Given the description of an element on the screen output the (x, y) to click on. 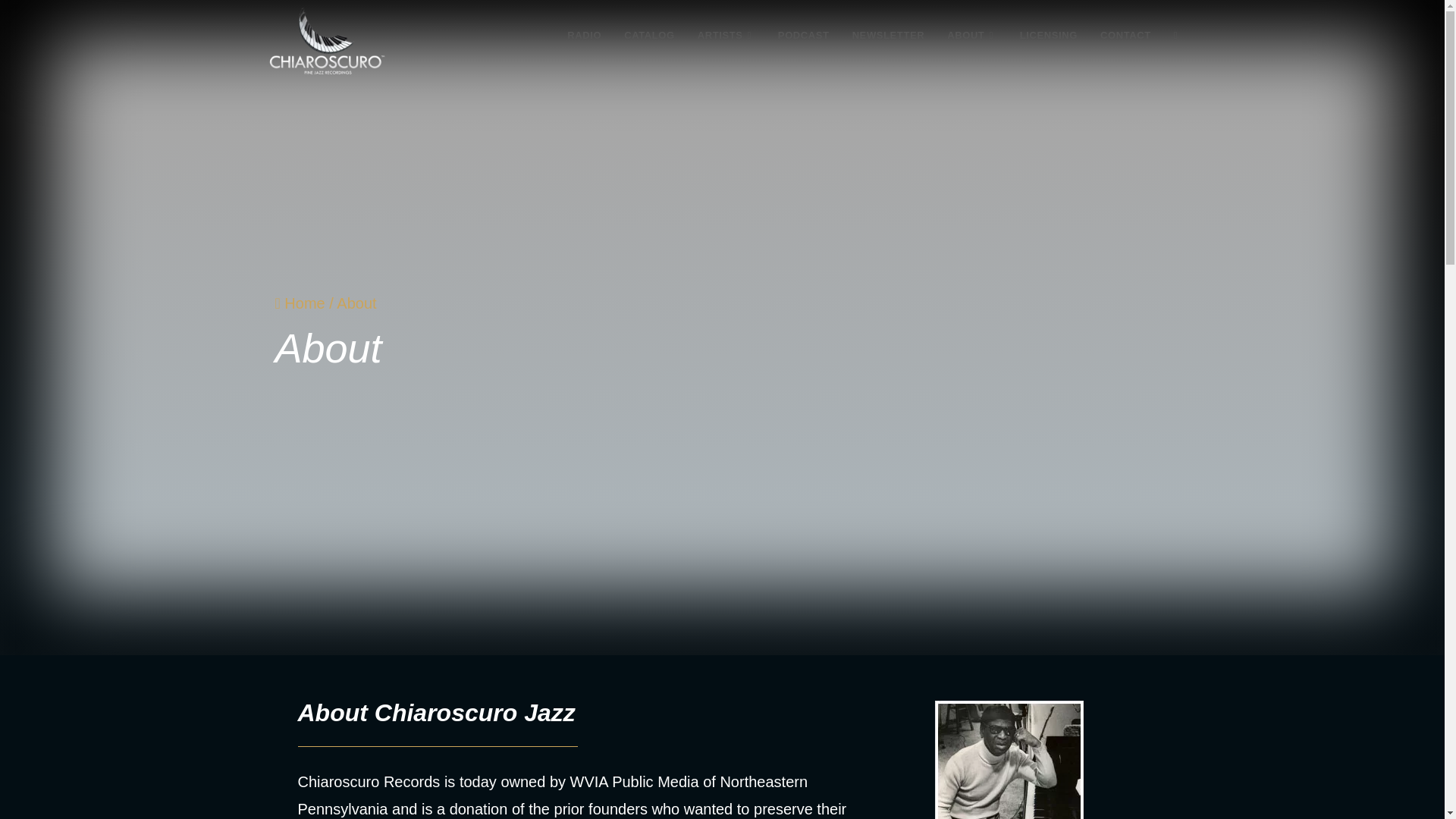
PODCAST (804, 35)
Home (299, 303)
RADIO (584, 35)
CATALOG (648, 35)
NEWSLETTER (888, 35)
ABOUT (972, 35)
ARTISTS (726, 35)
LICENSING (1049, 35)
CONTACT (1125, 35)
